Given the description of an element on the screen output the (x, y) to click on. 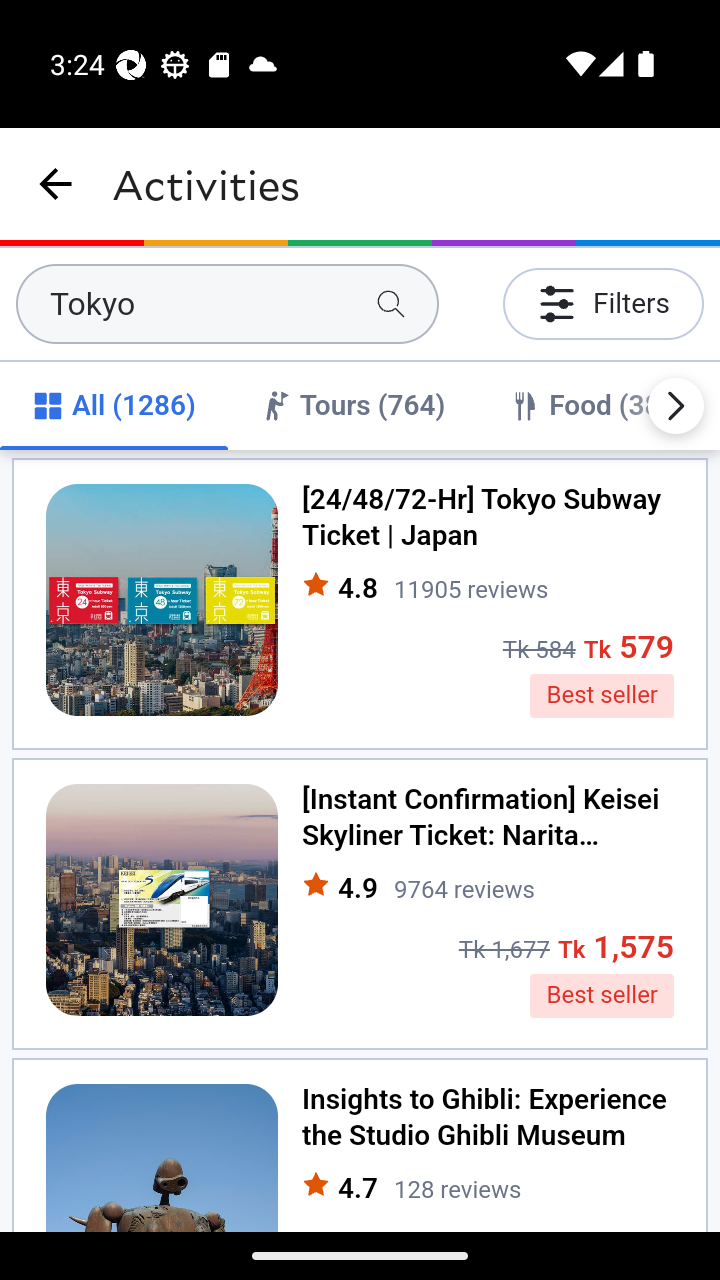
navigation_button (56, 184)
Tokyo (227, 303)
Filter and Sort (602, 303)
Search (390, 303)
All (1286) (113, 405)
Tours (764) (352, 405)
Food (387) (597, 405)
